Given the description of an element on the screen output the (x, y) to click on. 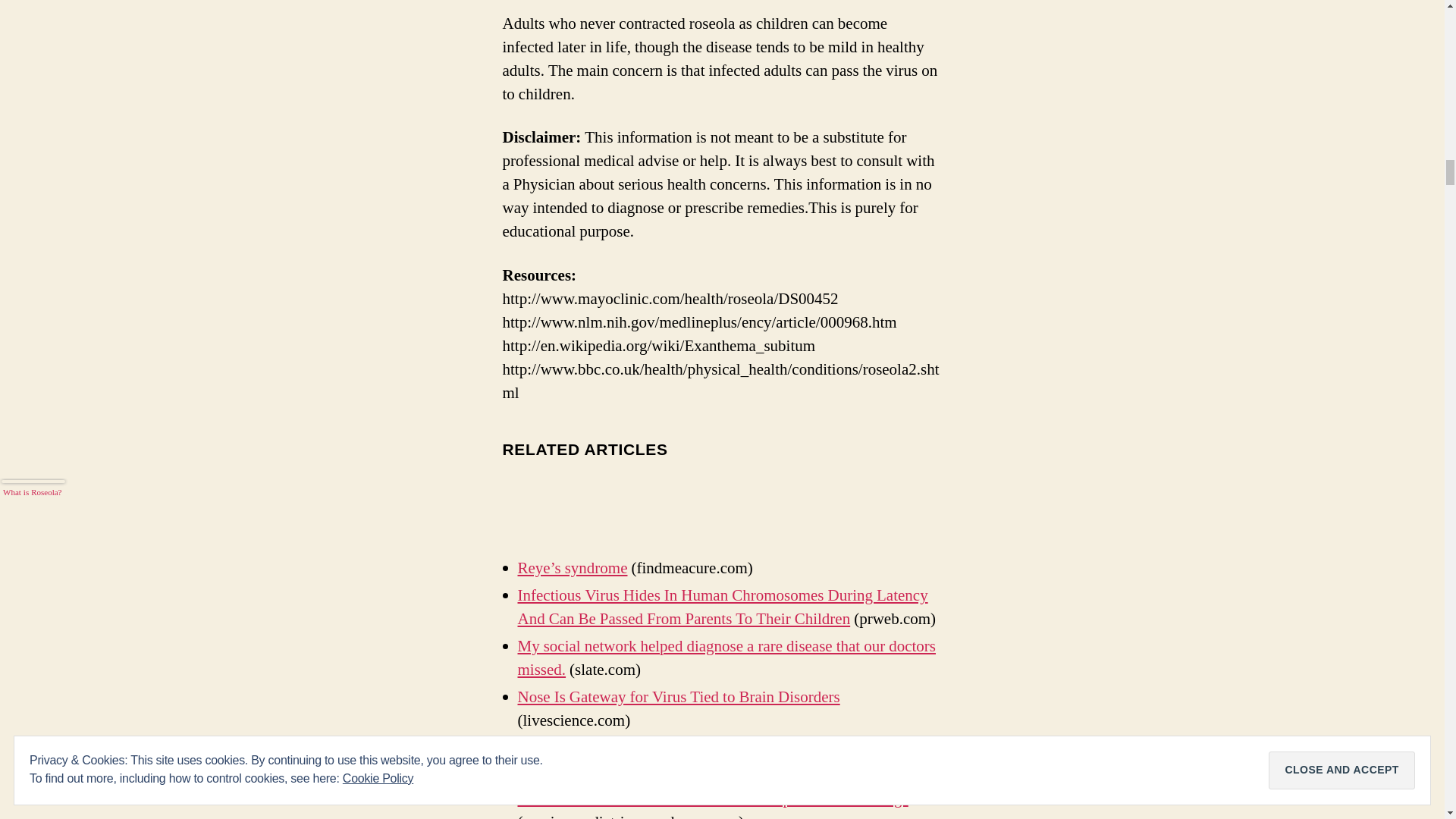
What is Roseola? (33, 514)
Nose Is Gateway for Virus Tied to Brain Disorders (678, 697)
